Given the description of an element on the screen output the (x, y) to click on. 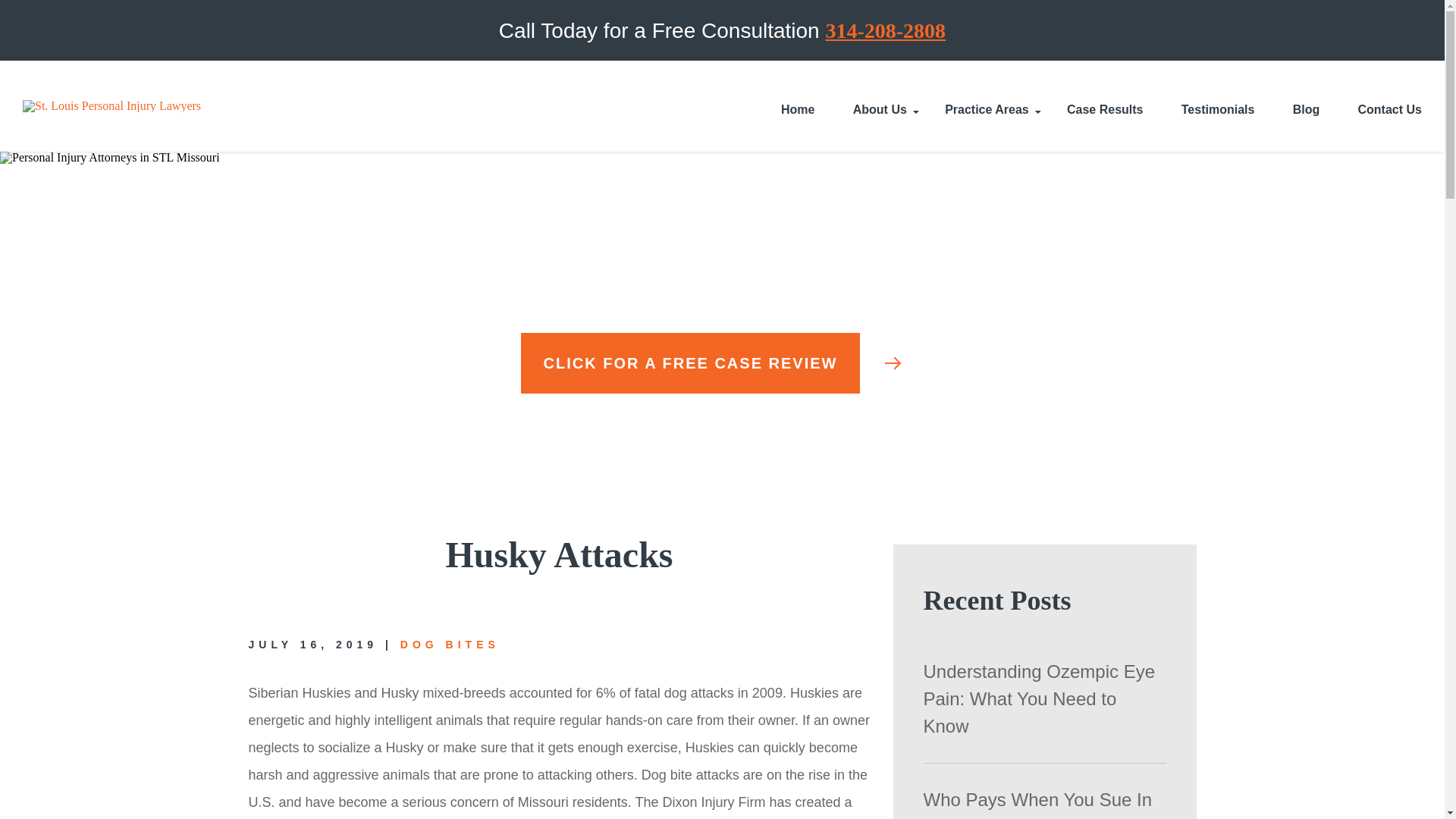
St. Louis Personal Injury Law Firm (111, 105)
Practice Areas (986, 105)
314-208-2808 (884, 29)
CLICK FOR A FREE CASE REVIEW (722, 362)
DOG BITES (449, 644)
